Given the description of an element on the screen output the (x, y) to click on. 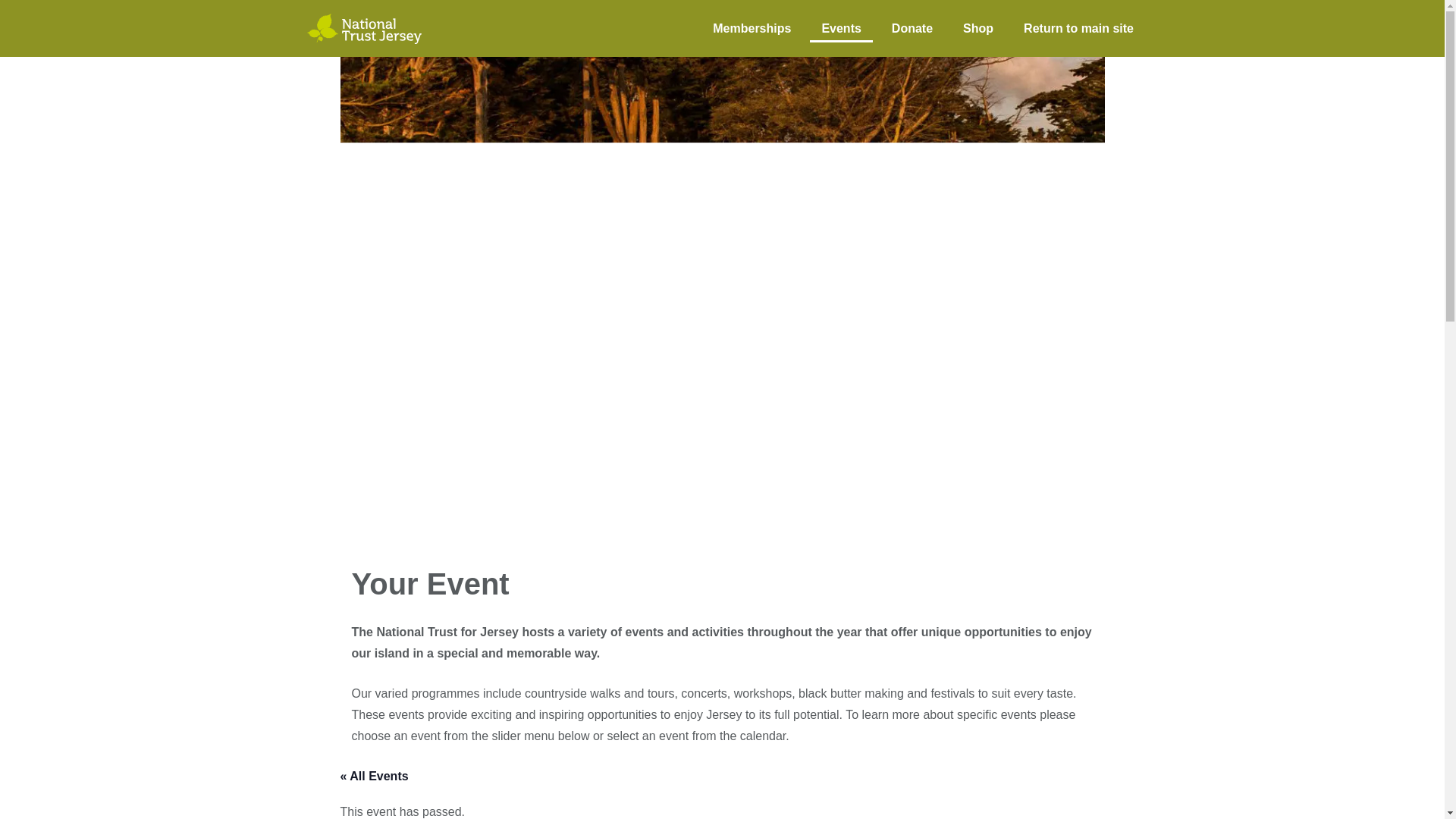
Return to main site (1077, 27)
Shop (978, 27)
Memberships (751, 27)
Events (840, 27)
Donate (911, 27)
